Given the description of an element on the screen output the (x, y) to click on. 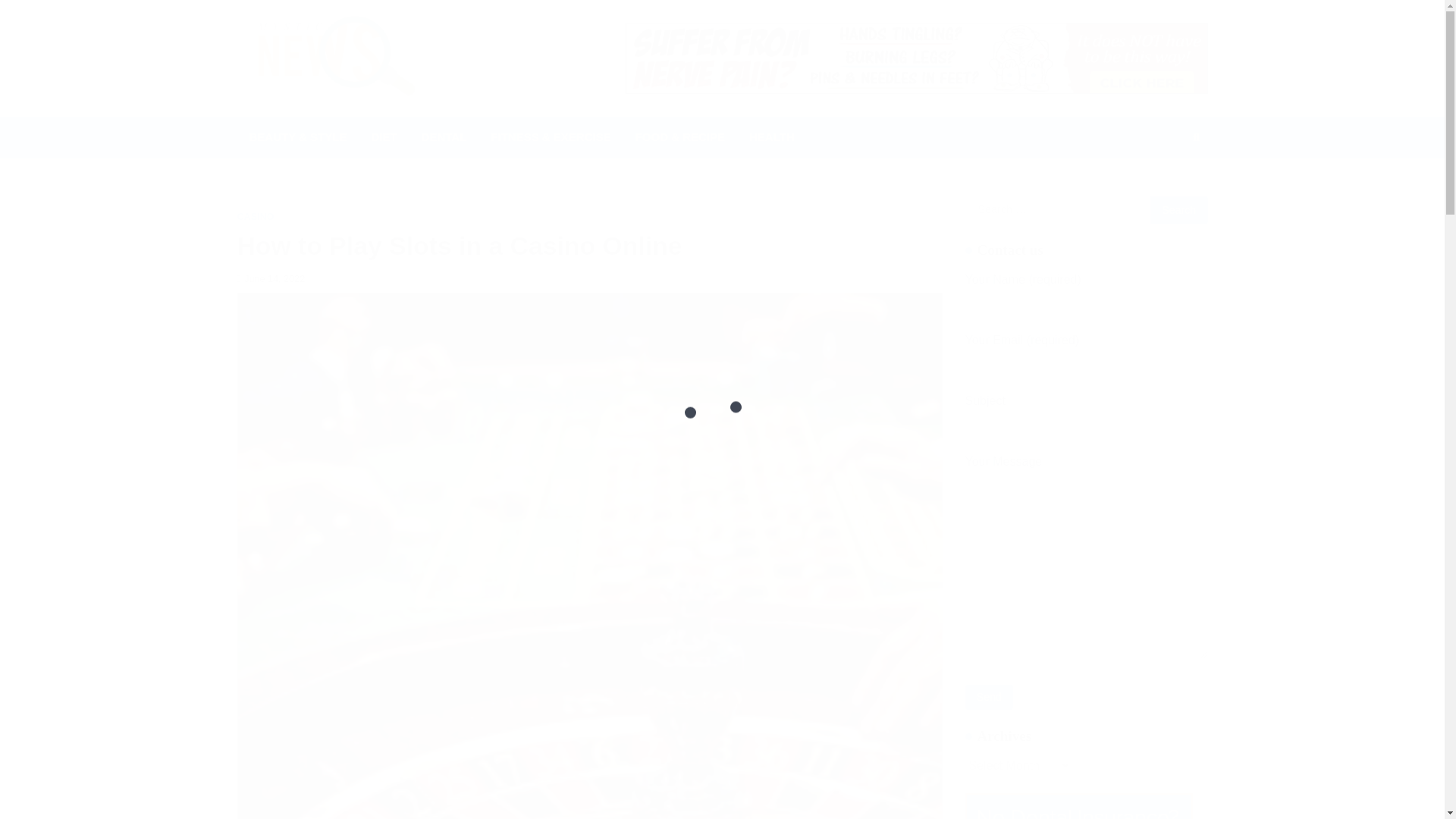
Send (988, 697)
CASINO (254, 216)
Search (1168, 172)
DIET (384, 137)
Send (988, 697)
Search (1179, 209)
June 14, 2022 (269, 278)
Search (1196, 137)
DENTAL (443, 137)
Search (1179, 209)
